Given the description of an element on the screen output the (x, y) to click on. 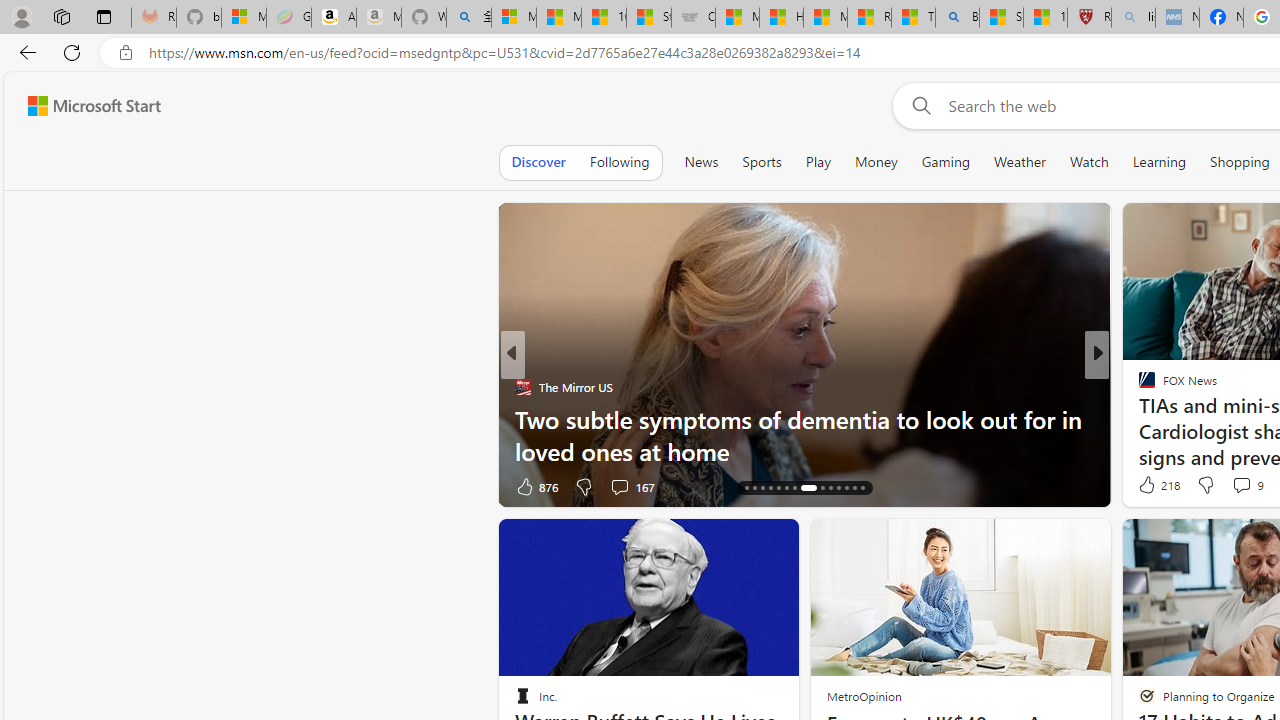
AutomationID: tab-27 (853, 487)
Bing (957, 17)
View comments 9 Comment (1247, 484)
Robert H. Shmerling, MD - Harvard Health (1089, 17)
How I Got Rid of Microsoft Edge's Unnecessary Features (781, 17)
AutomationID: tab-28 (861, 487)
218 Like (1157, 484)
View comments 5 Comment (1234, 486)
AutomationID: tab-26 (846, 487)
AutomationID: tab-21 (793, 487)
